Given the description of an element on the screen output the (x, y) to click on. 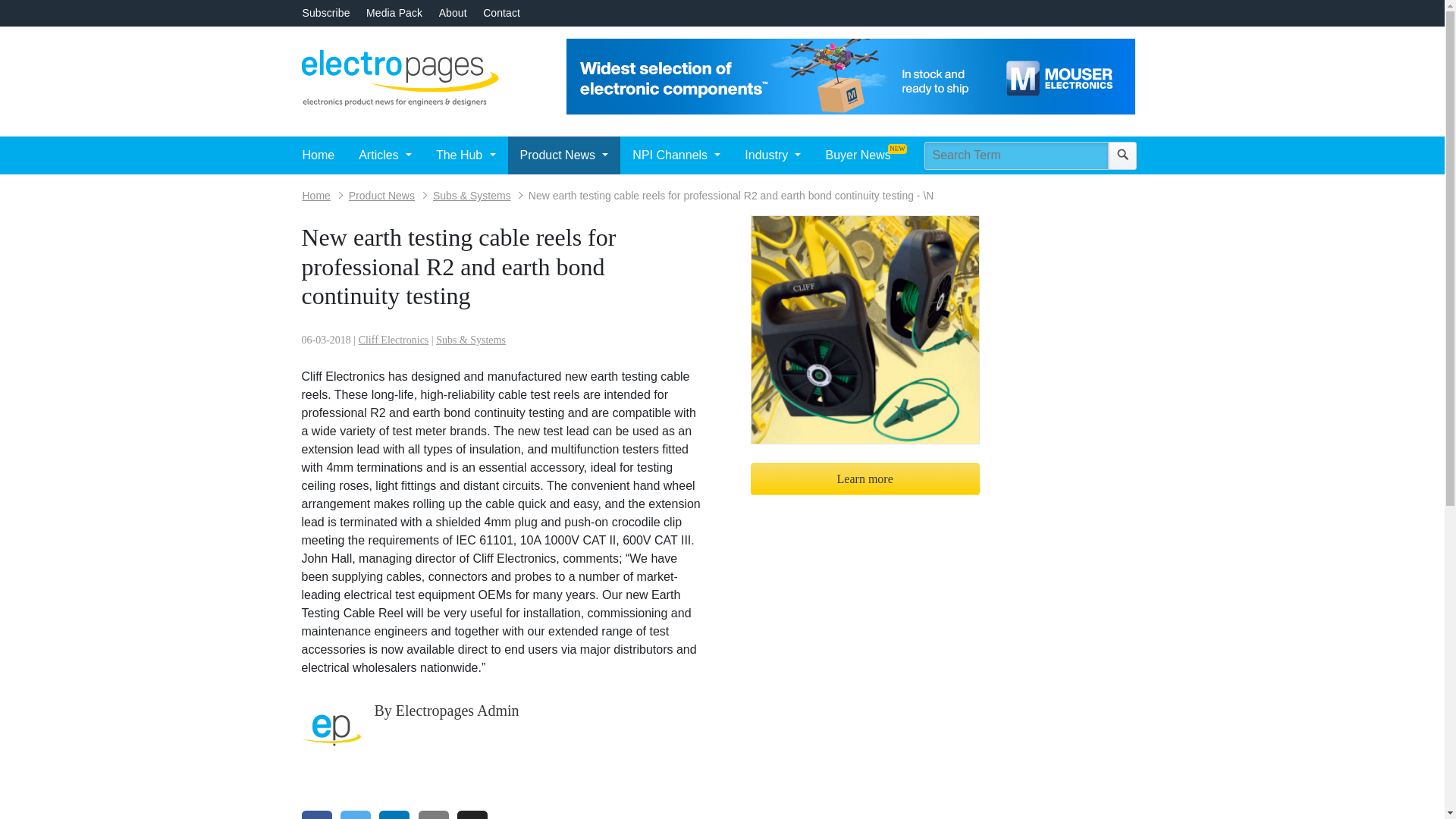
The Hub (465, 155)
Media Pack (394, 12)
Articles (384, 155)
About (453, 12)
Contact (501, 12)
Product News (564, 155)
Home (317, 155)
3rd party ad content (850, 76)
Share on Facebook (316, 814)
Subscribe (325, 12)
